Given the description of an element on the screen output the (x, y) to click on. 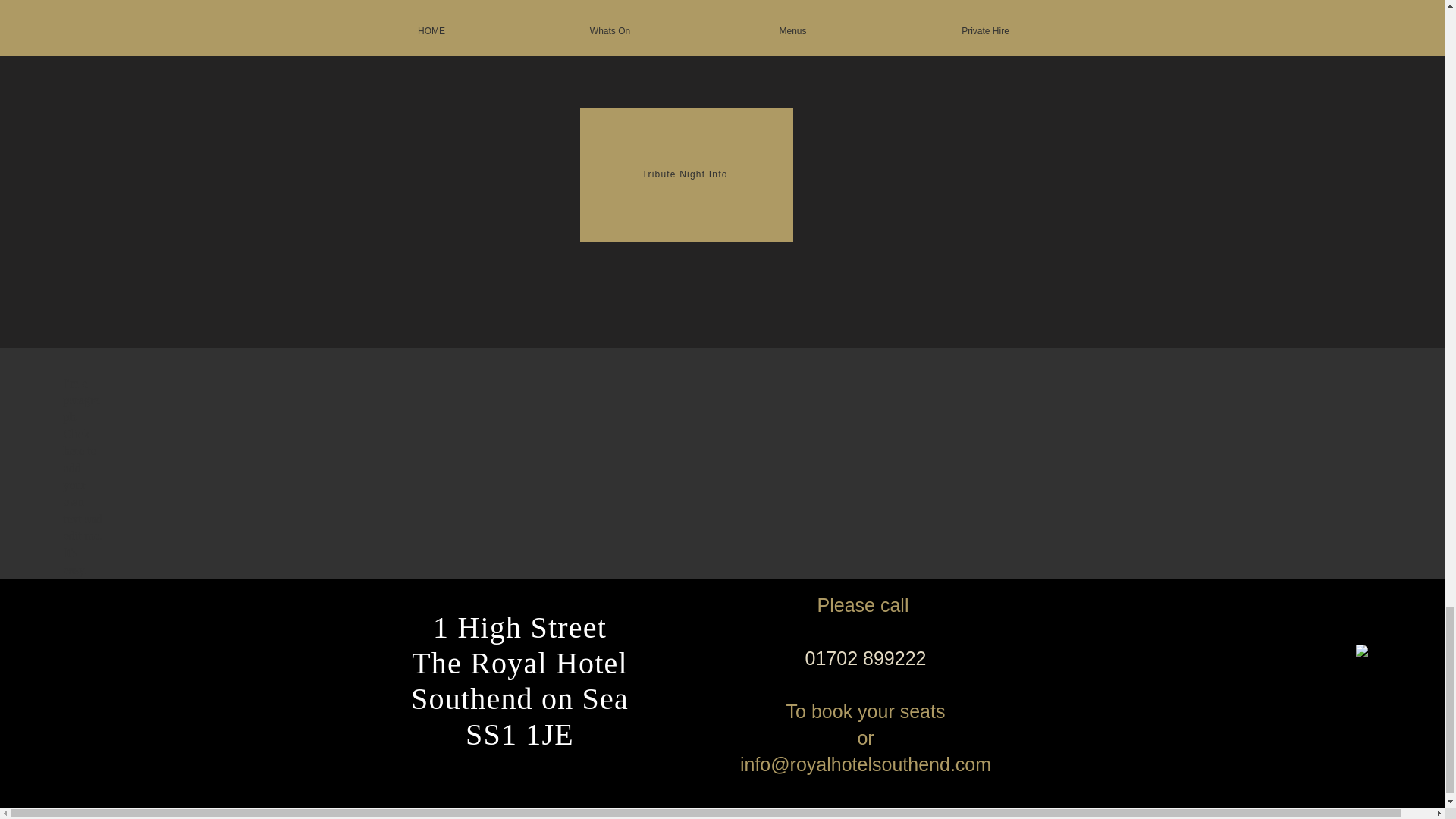
Tribute Night Info (685, 174)
